Given the description of an element on the screen output the (x, y) to click on. 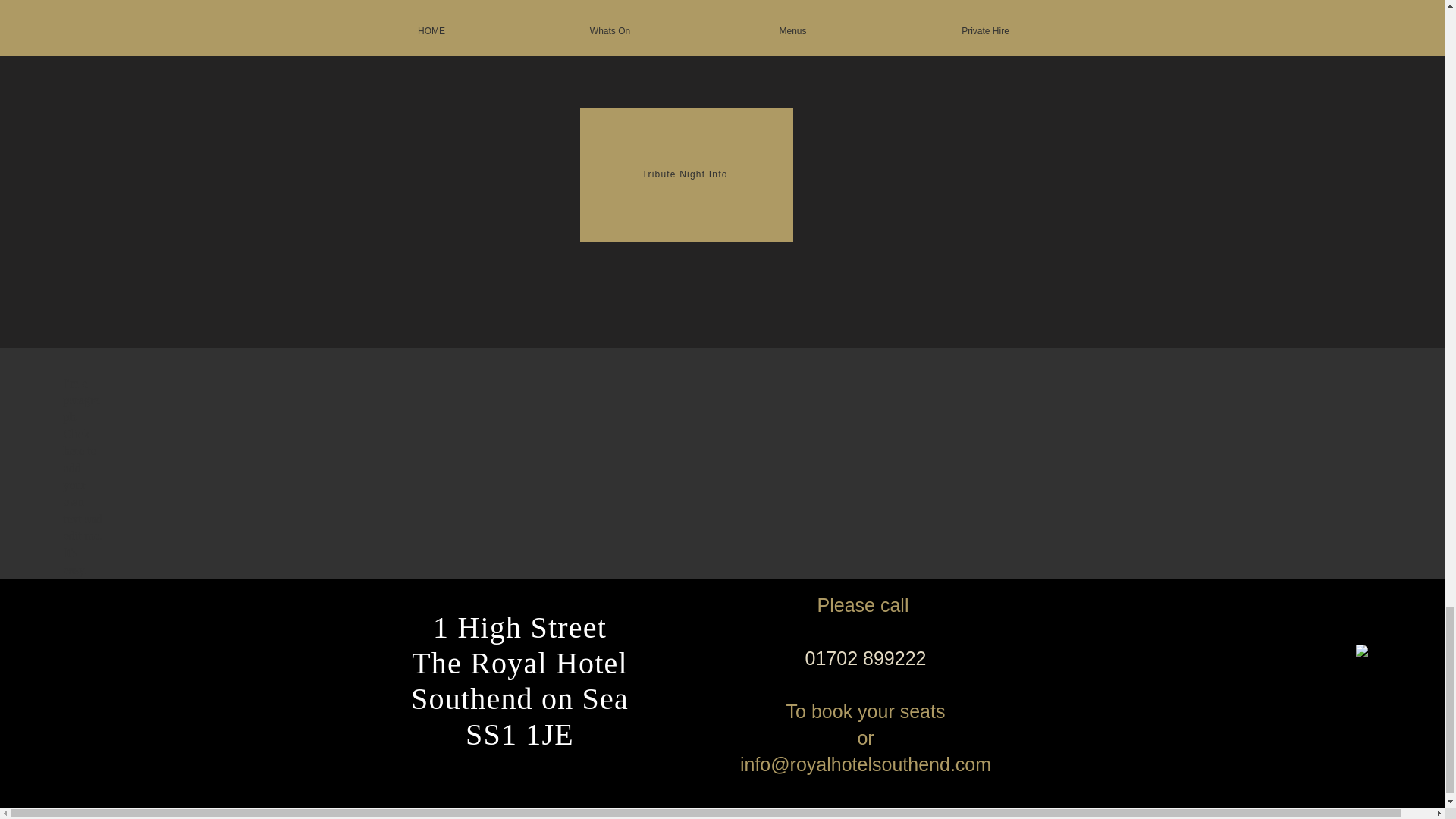
Tribute Night Info (685, 174)
